Given the description of an element on the screen output the (x, y) to click on. 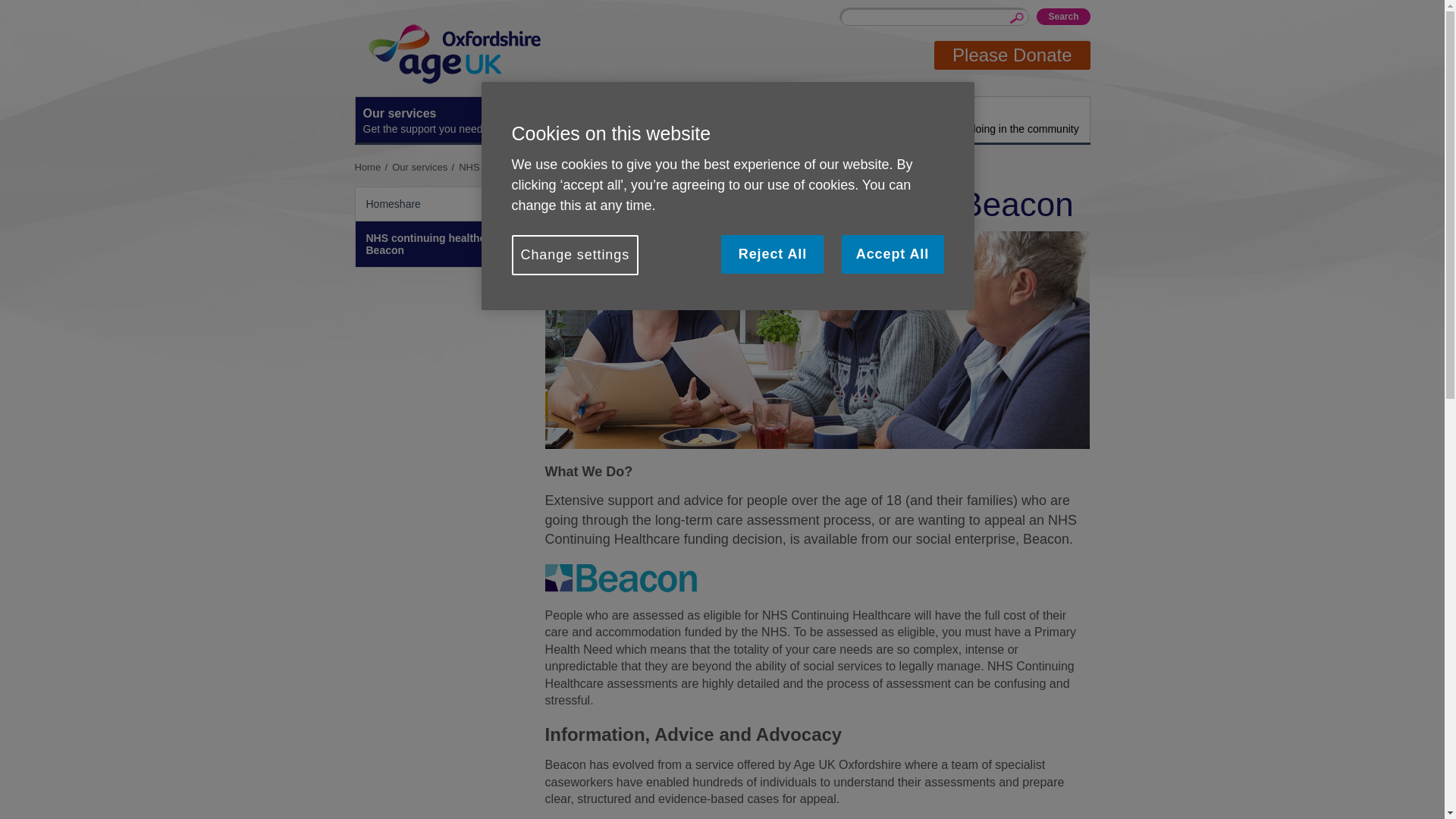
NHS continuing healthcare: Beacon (542, 166)
Search (1062, 16)
Search (1062, 16)
Title (630, 119)
Title (424, 166)
Home (374, 166)
Please Donate (374, 166)
Our services (997, 119)
Title (813, 119)
Search (446, 119)
